Given the description of an element on the screen output the (x, y) to click on. 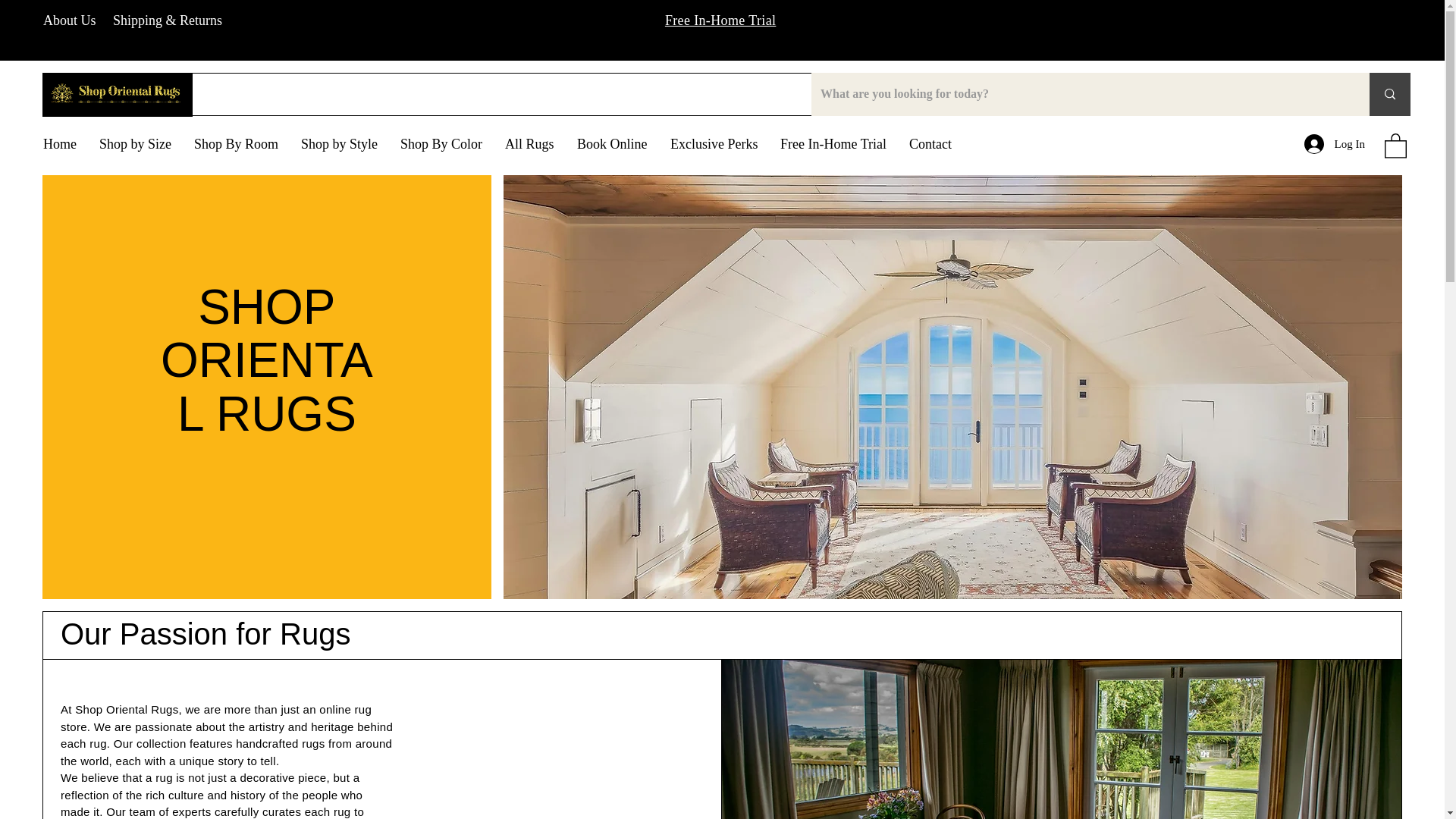
All Rugs (529, 143)
About Us (69, 20)
Free In-Home Trial (720, 20)
Exclusive Perks (713, 143)
Home (59, 143)
Log In (1334, 143)
Contact (930, 143)
Book Online (612, 143)
Free In-Home Trial (833, 143)
